Given the description of an element on the screen output the (x, y) to click on. 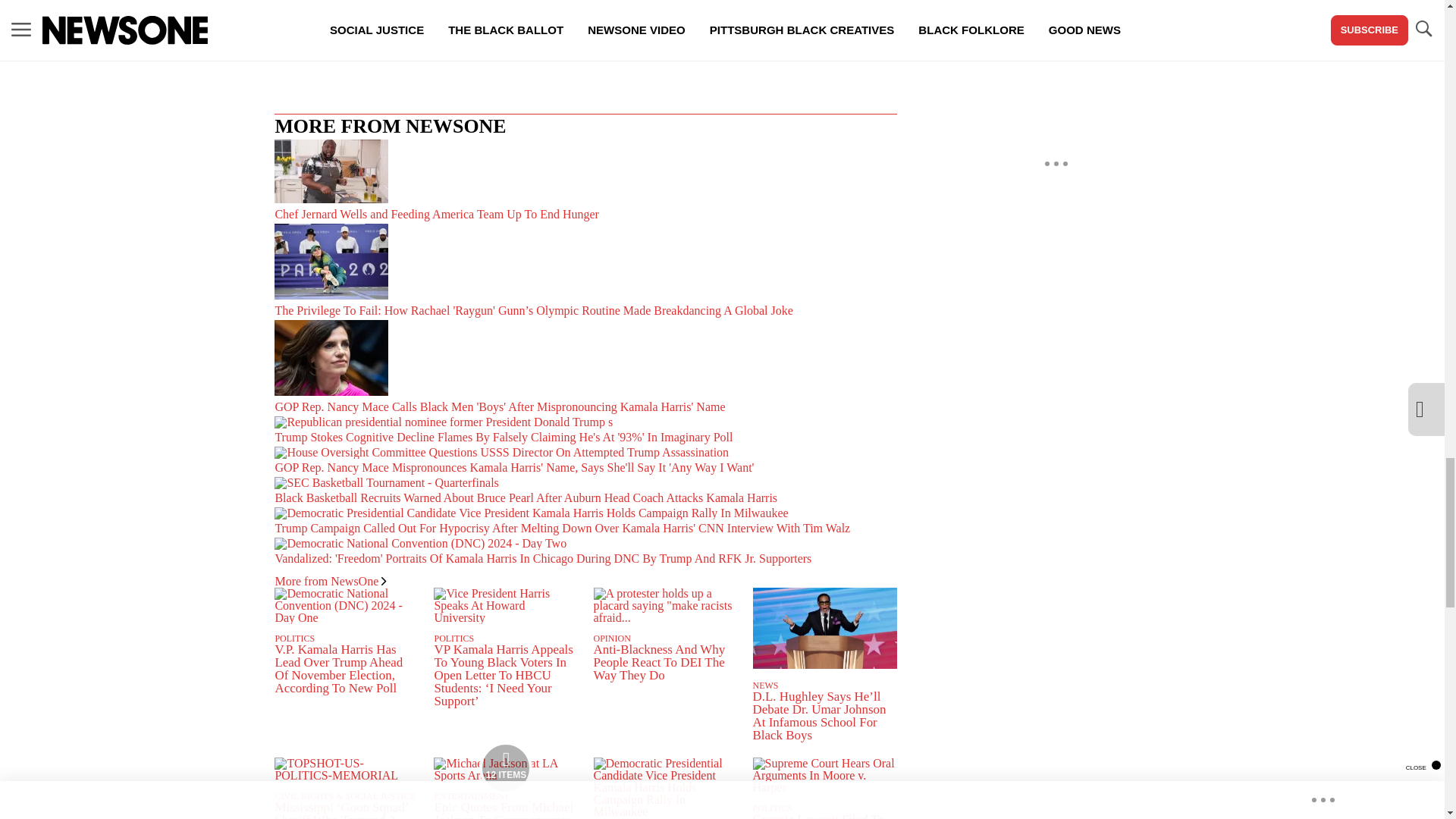
ARREST (421, 12)
AIRPORT (352, 12)
Chef Jernard Wells and Feeding America Team Up To End Hunger (585, 181)
ORLANDO (493, 12)
Media Playlist (505, 768)
